Given the description of an element on the screen output the (x, y) to click on. 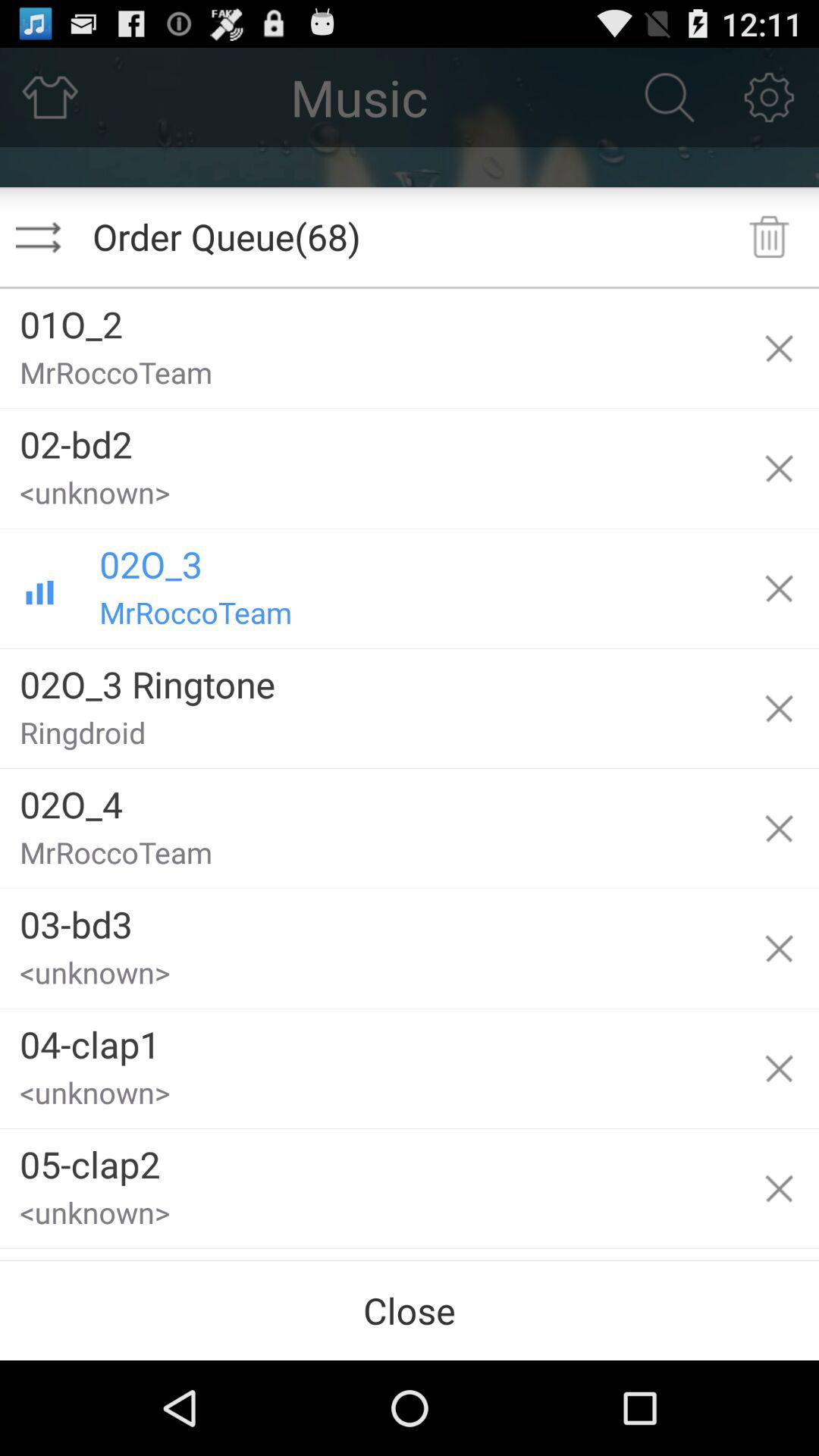
click 04-clap1 app (369, 1038)
